Given the description of an element on the screen output the (x, y) to click on. 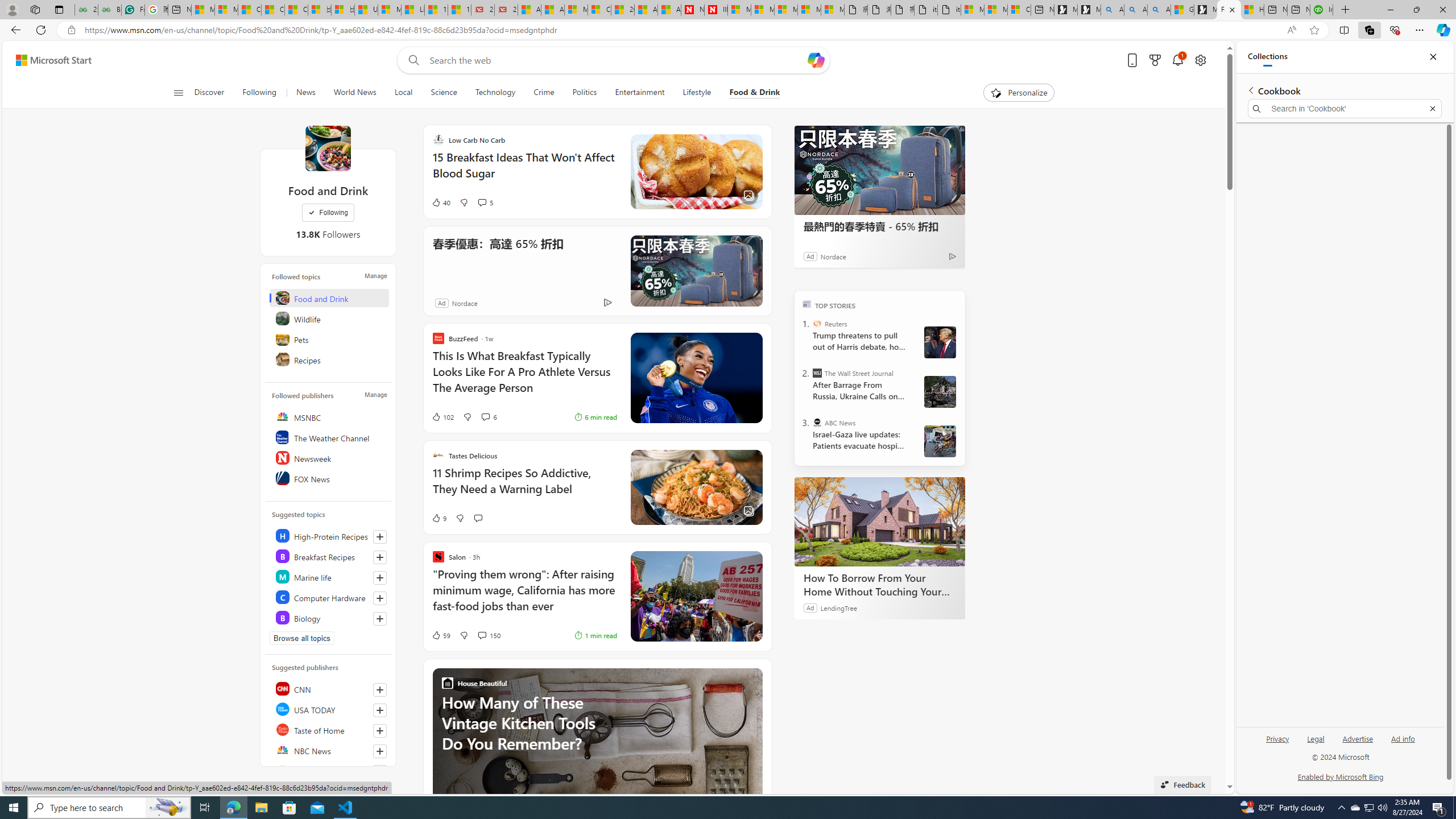
NBC News (328, 750)
The Wall Street Journal (816, 372)
MSNBC (328, 416)
59 Like (440, 635)
View comments 150 Comment (481, 634)
